Given the description of an element on the screen output the (x, y) to click on. 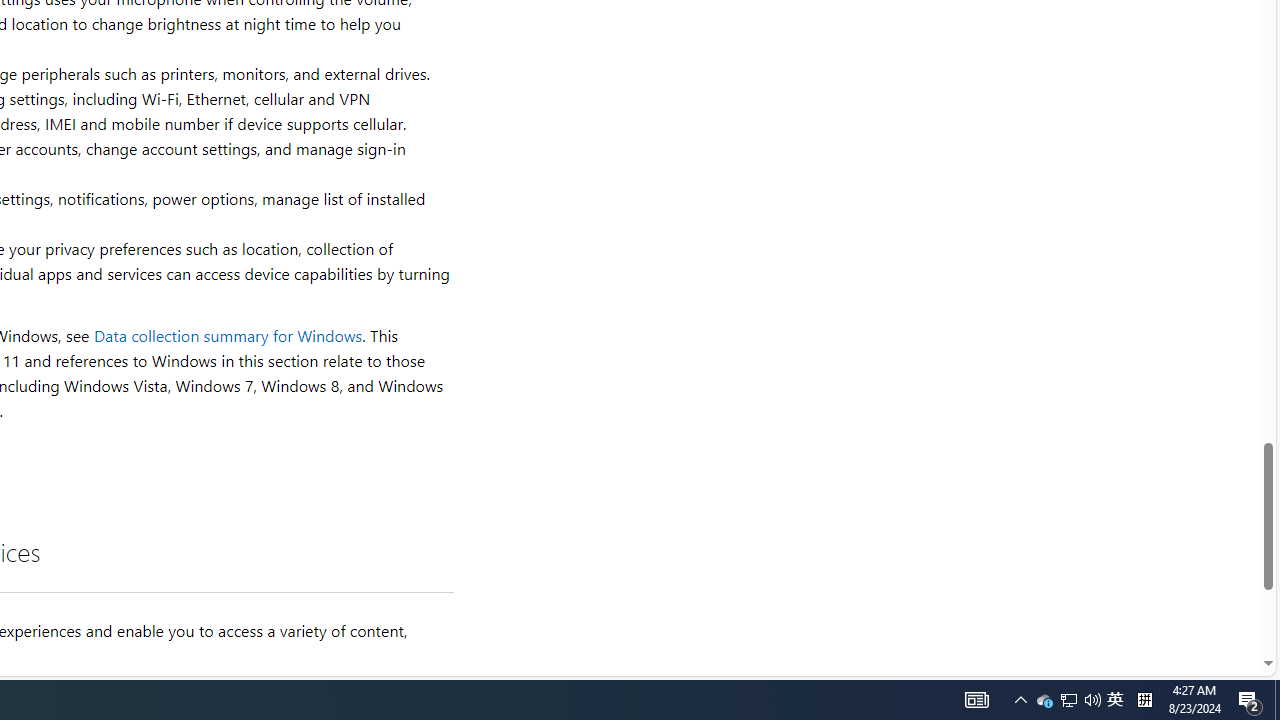
Data collection summary for Windows (228, 335)
